Given the description of an element on the screen output the (x, y) to click on. 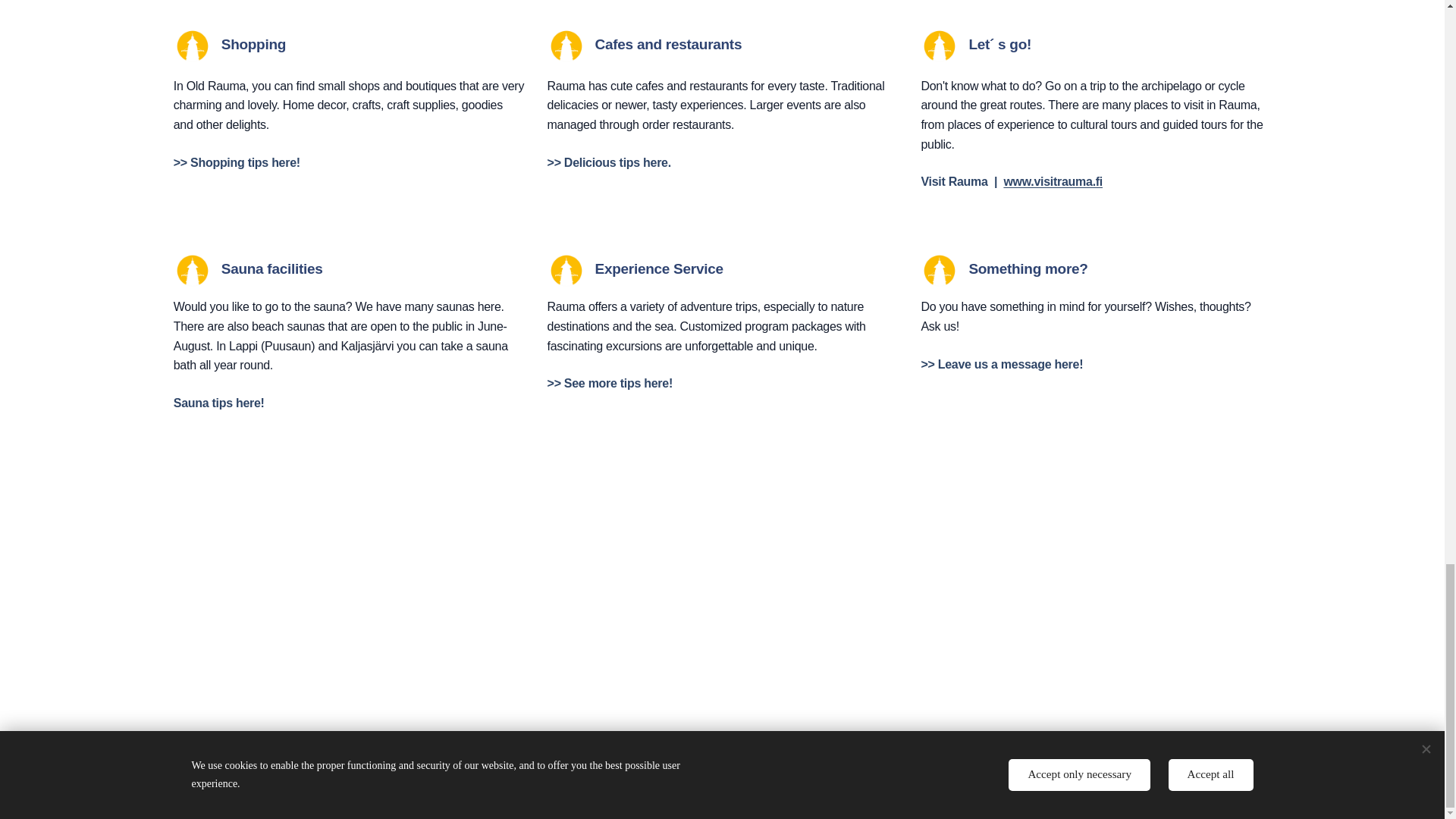
www.visitrauma.fi (1052, 181)
